Given the description of an element on the screen output the (x, y) to click on. 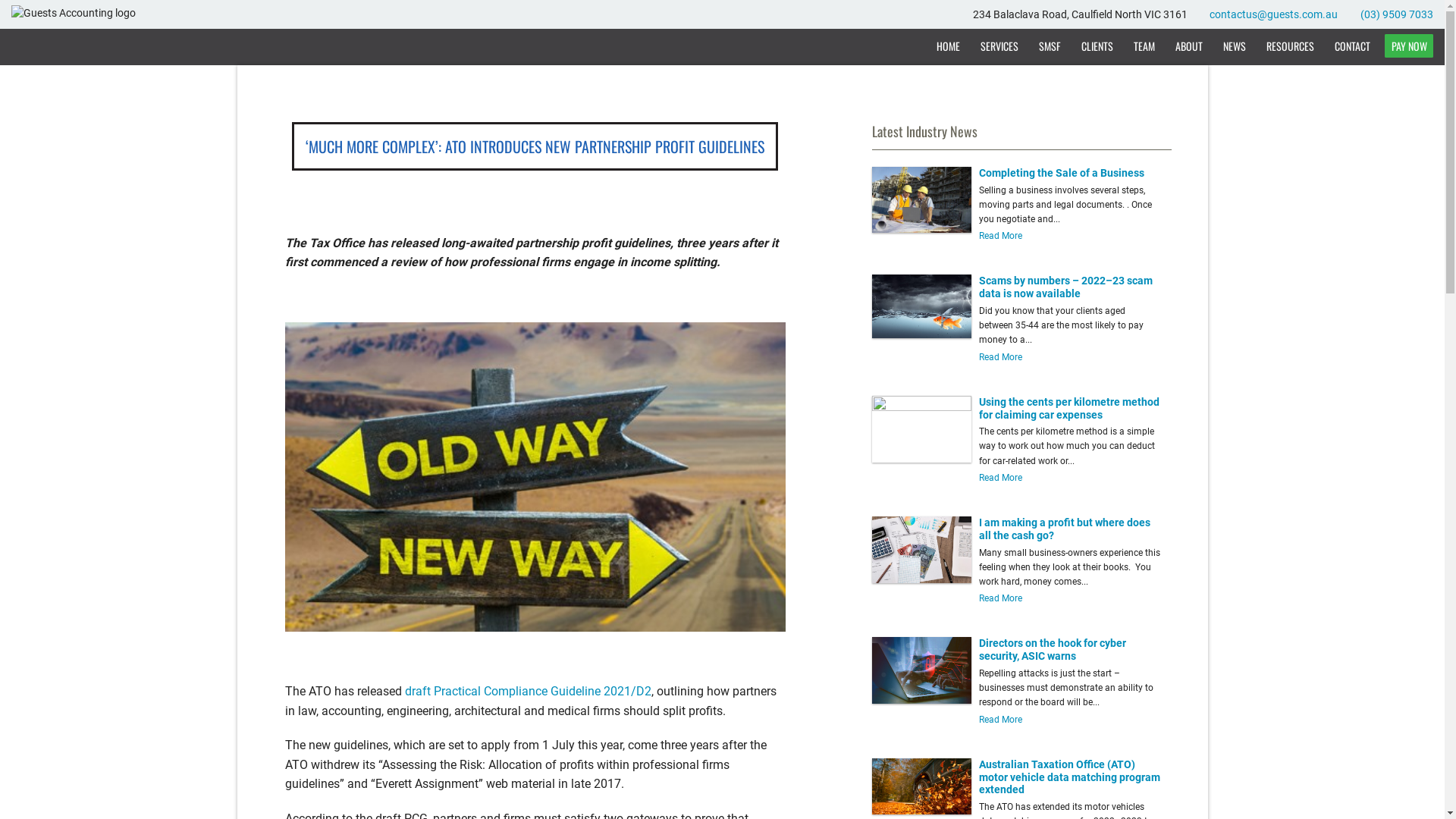
SMSF Element type: text (1049, 45)
CONTACT Element type: text (1352, 45)
Read More Element type: text (1000, 235)
Completing the Sale of a Business Element type: text (1061, 172)
Directors on the hook for cyber security, ASIC warns Element type: text (1052, 649)
contactus@guests.com.au Element type: text (1273, 14)
draft Practical Compliance Guideline 2021/D2 Element type: text (527, 691)
(03) 9509 7033 Element type: text (1396, 14)
PAY NOW Element type: text (1408, 45)
HOME Element type: text (948, 45)
Read More Element type: text (1000, 356)
TEAM Element type: text (1143, 45)
Read More Element type: text (1000, 477)
I am making a profit but where does all the cash go? Element type: text (1064, 528)
NEWS Element type: text (1234, 45)
ABOUT Element type: text (1189, 45)
Read More Element type: text (1000, 719)
SERVICES Element type: text (999, 45)
CLIENTS Element type: text (1096, 45)
Read More Element type: text (1000, 598)
RESOURCES Element type: text (1290, 45)
